Given the description of an element on the screen output the (x, y) to click on. 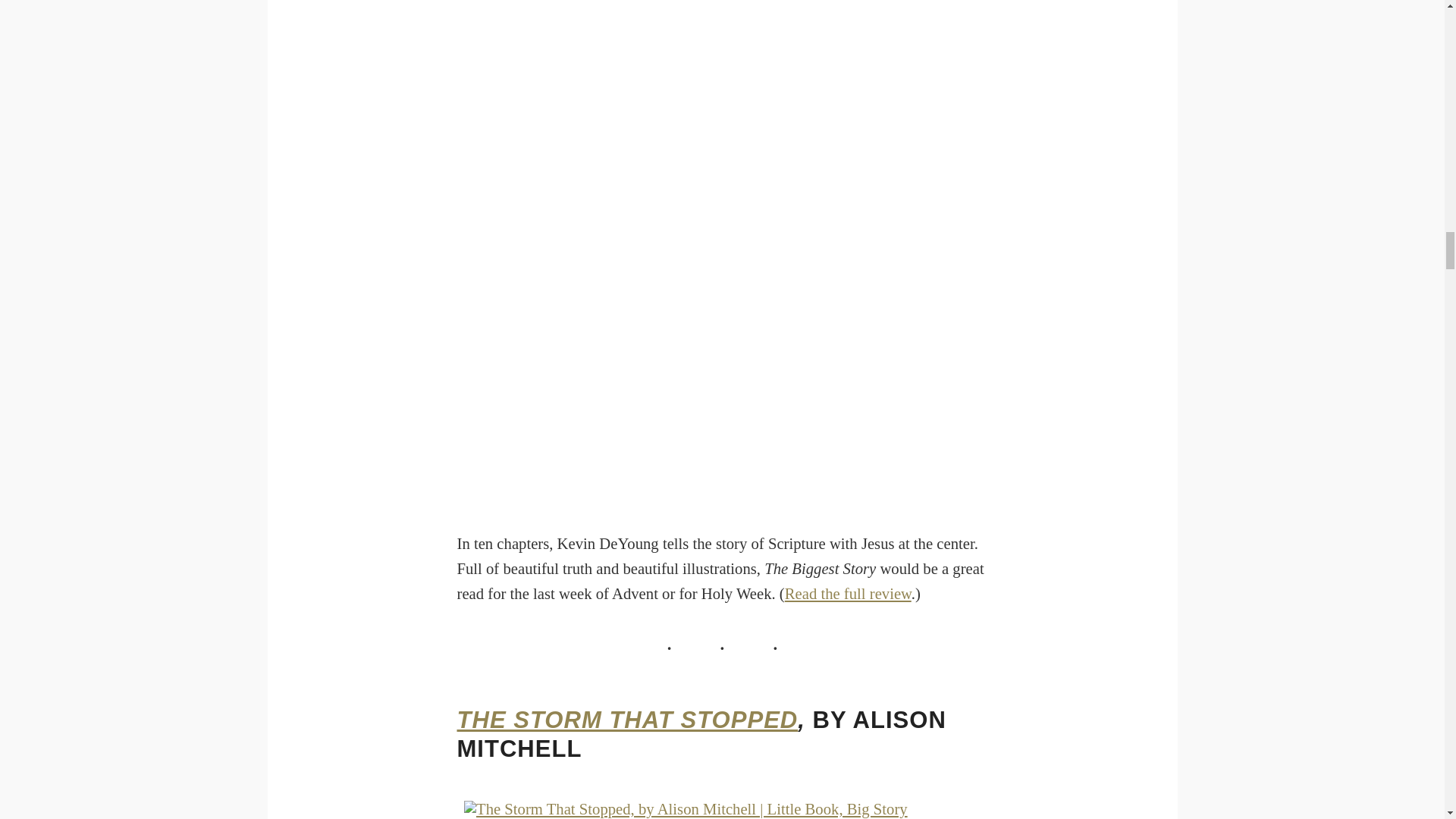
THE STORM THAT STOPPED (627, 719)
Read the full review (847, 593)
